Given the description of an element on the screen output the (x, y) to click on. 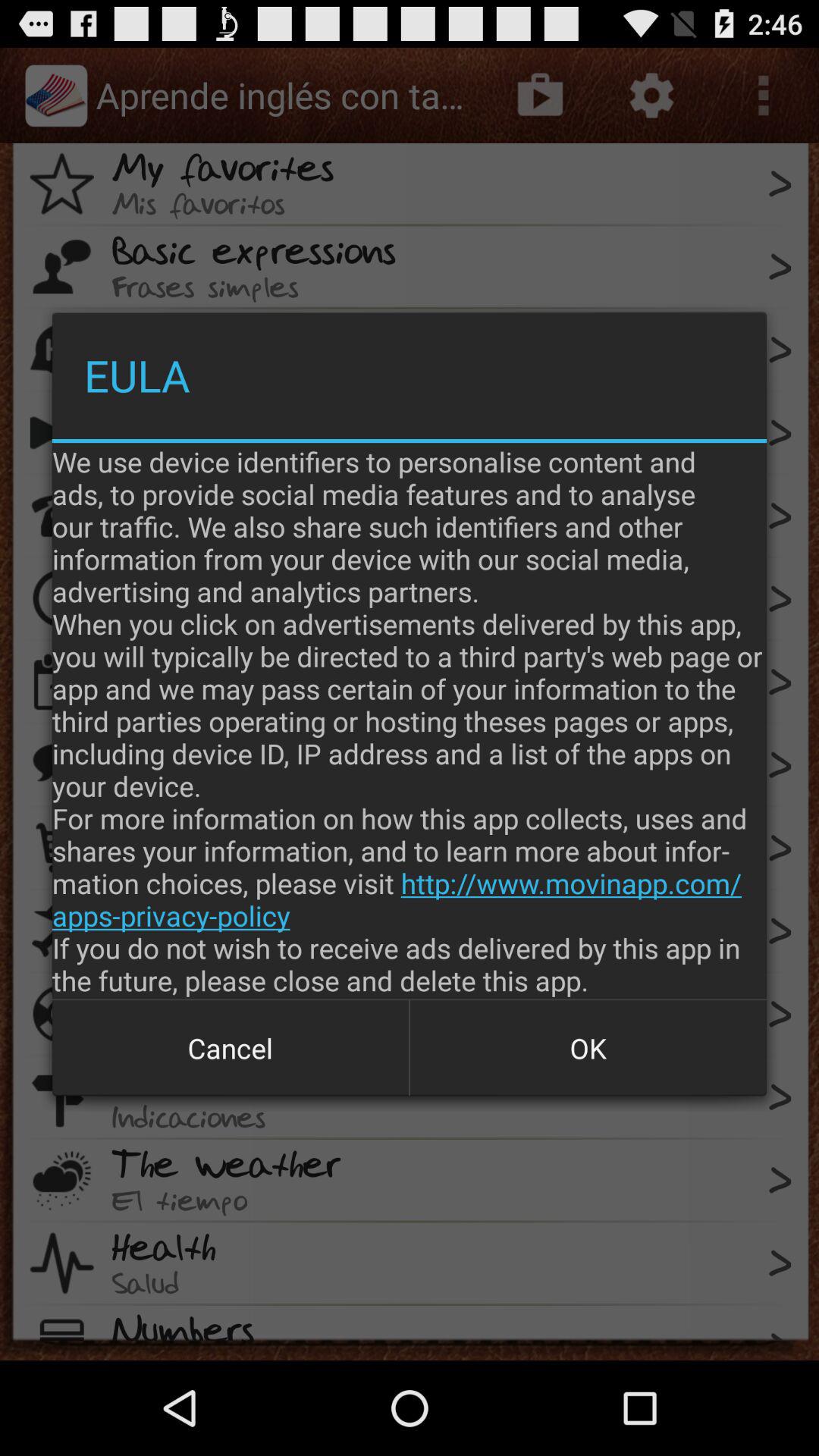
flip to ok item (588, 1047)
